Given the description of an element on the screen output the (x, y) to click on. 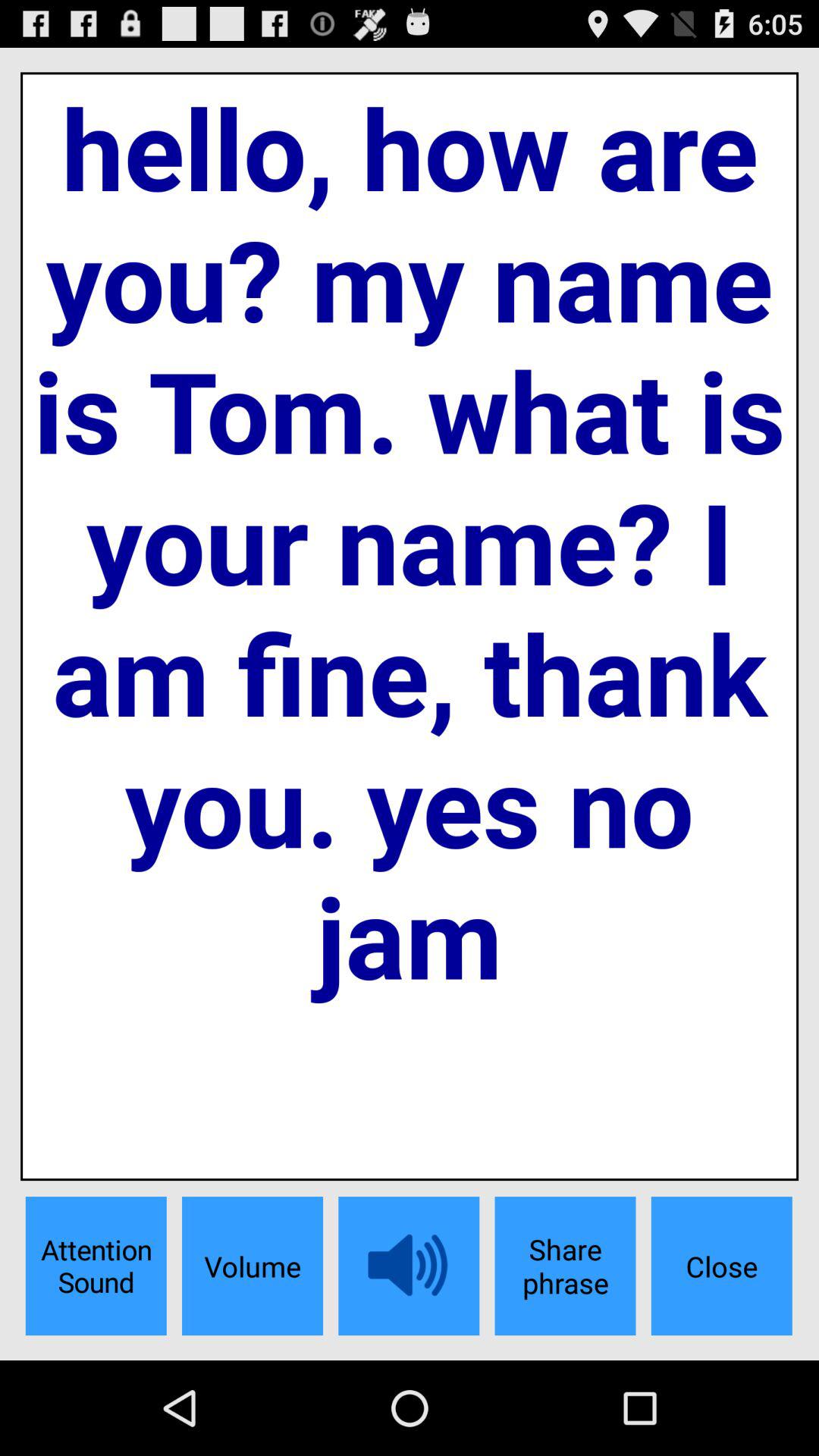
choose icon next to the close button (564, 1265)
